Given the description of an element on the screen output the (x, y) to click on. 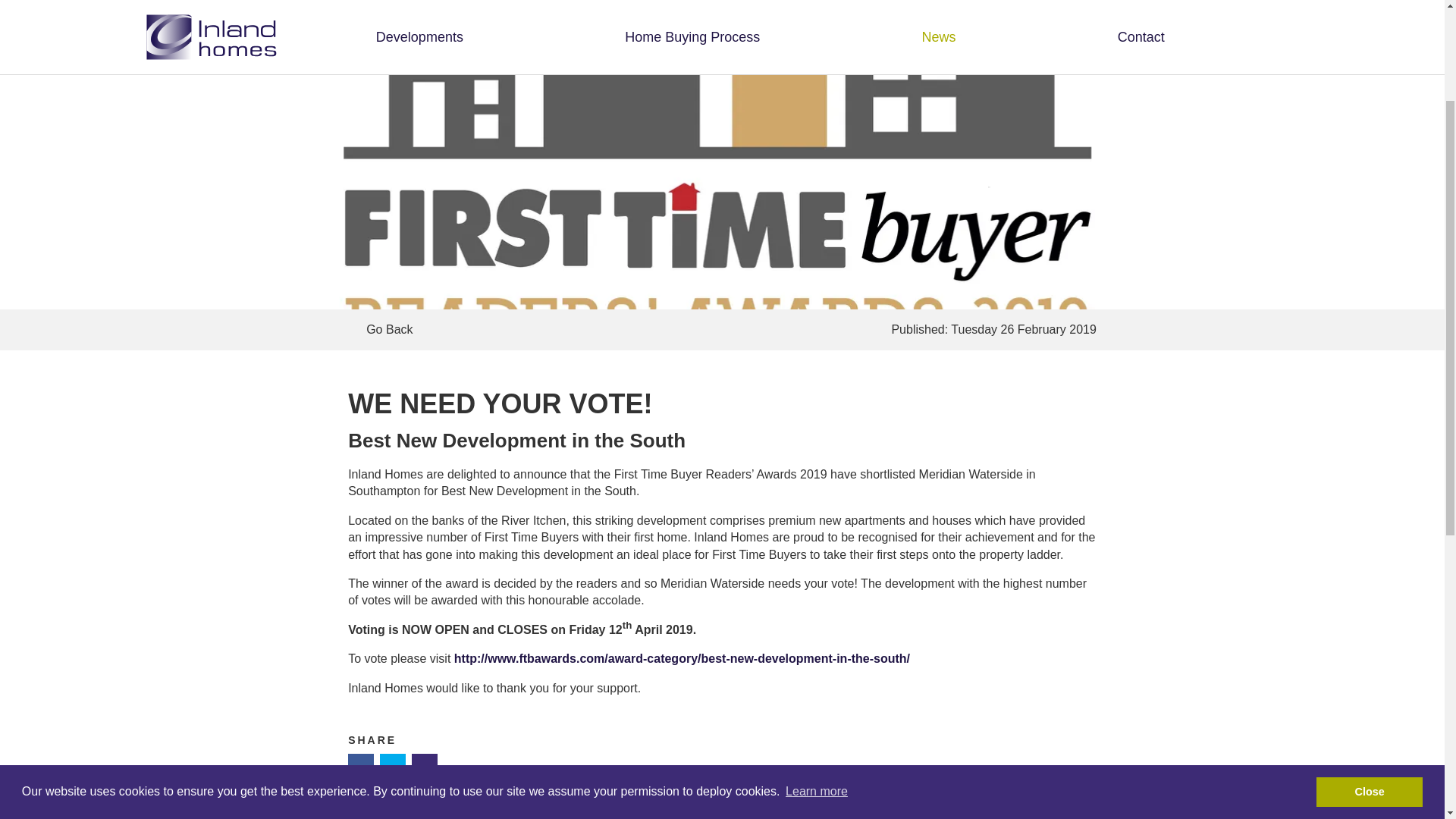
Awards (265, 289)
Our Developments (505, 234)
News (265, 261)
Privacy Notice (171, 587)
Modern Slavery and Human Trafficking Statement (300, 587)
About us (265, 234)
Accessibility (426, 587)
Go Back (531, 329)
Home Buying Process (505, 261)
Close (1369, 621)
Visit our corporate site (1104, 371)
Sales Event Reservation Procedure (505, 289)
Our Developments (505, 234)
Sales Event Reservation Procedure (505, 289)
Consumer Code (505, 316)
